Given the description of an element on the screen output the (x, y) to click on. 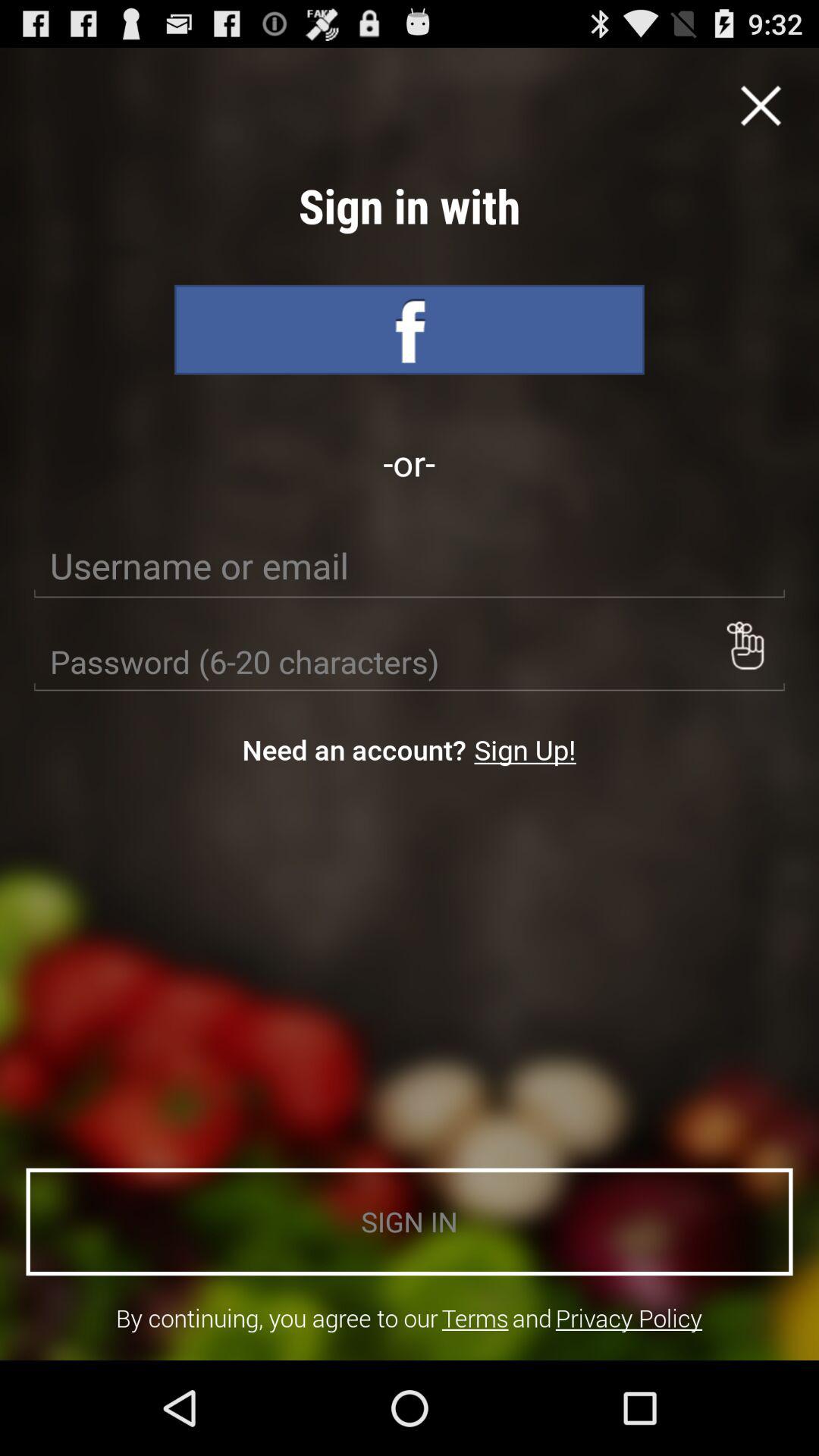
choose item to the right of need an account? item (525, 749)
